Given the description of an element on the screen output the (x, y) to click on. 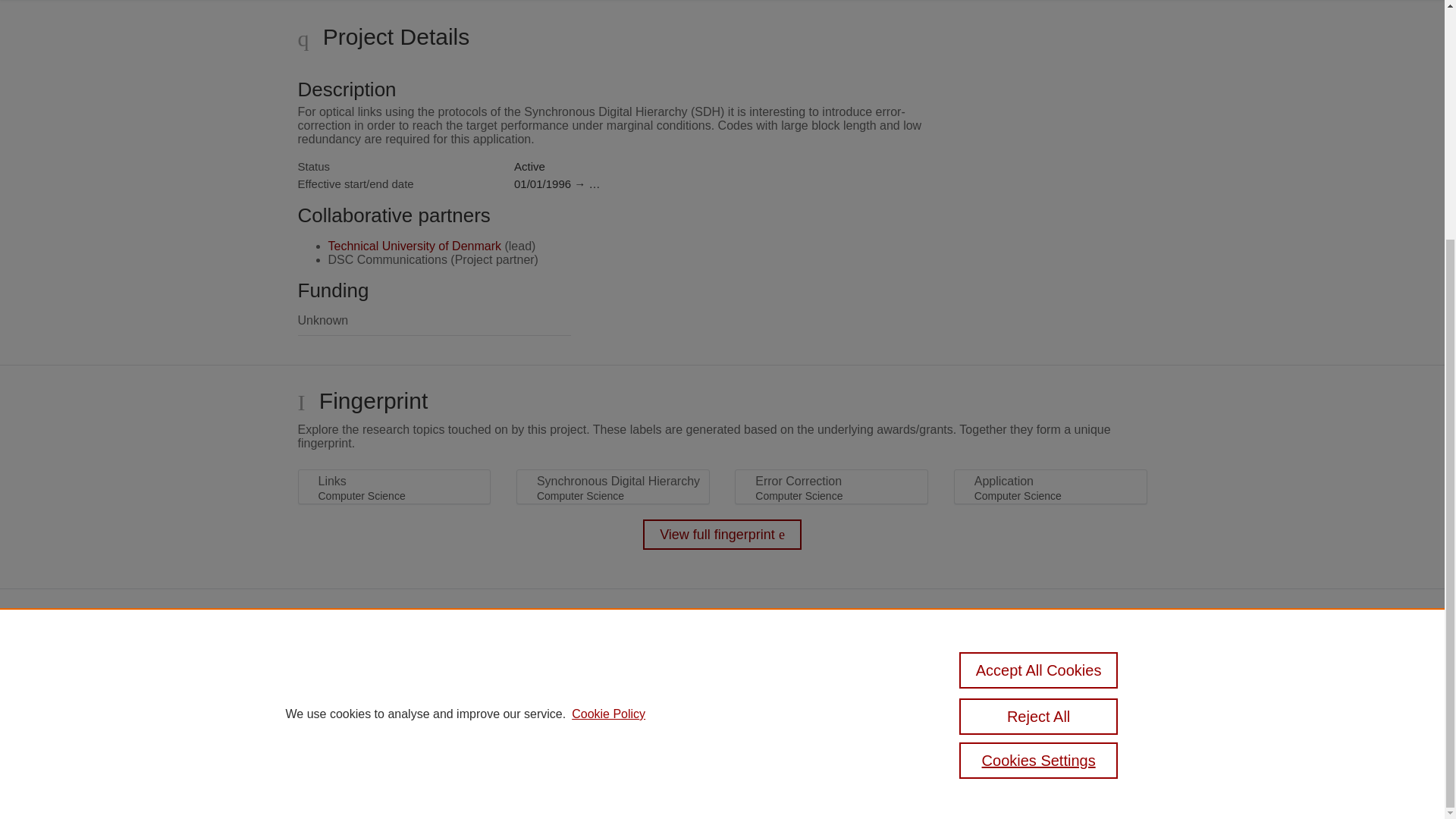
Log in to DTU Orbit (499, 781)
Cookie Policy (608, 384)
use of cookies (503, 739)
Cookies Settings (494, 760)
View full fingerprint (722, 534)
Pure (521, 664)
Elsevier B.V. (665, 685)
Technical University of Denmark (413, 245)
Report vulnerability (989, 727)
Welcome to DTU Research Database data protection policy (1007, 675)
